Given the description of an element on the screen output the (x, y) to click on. 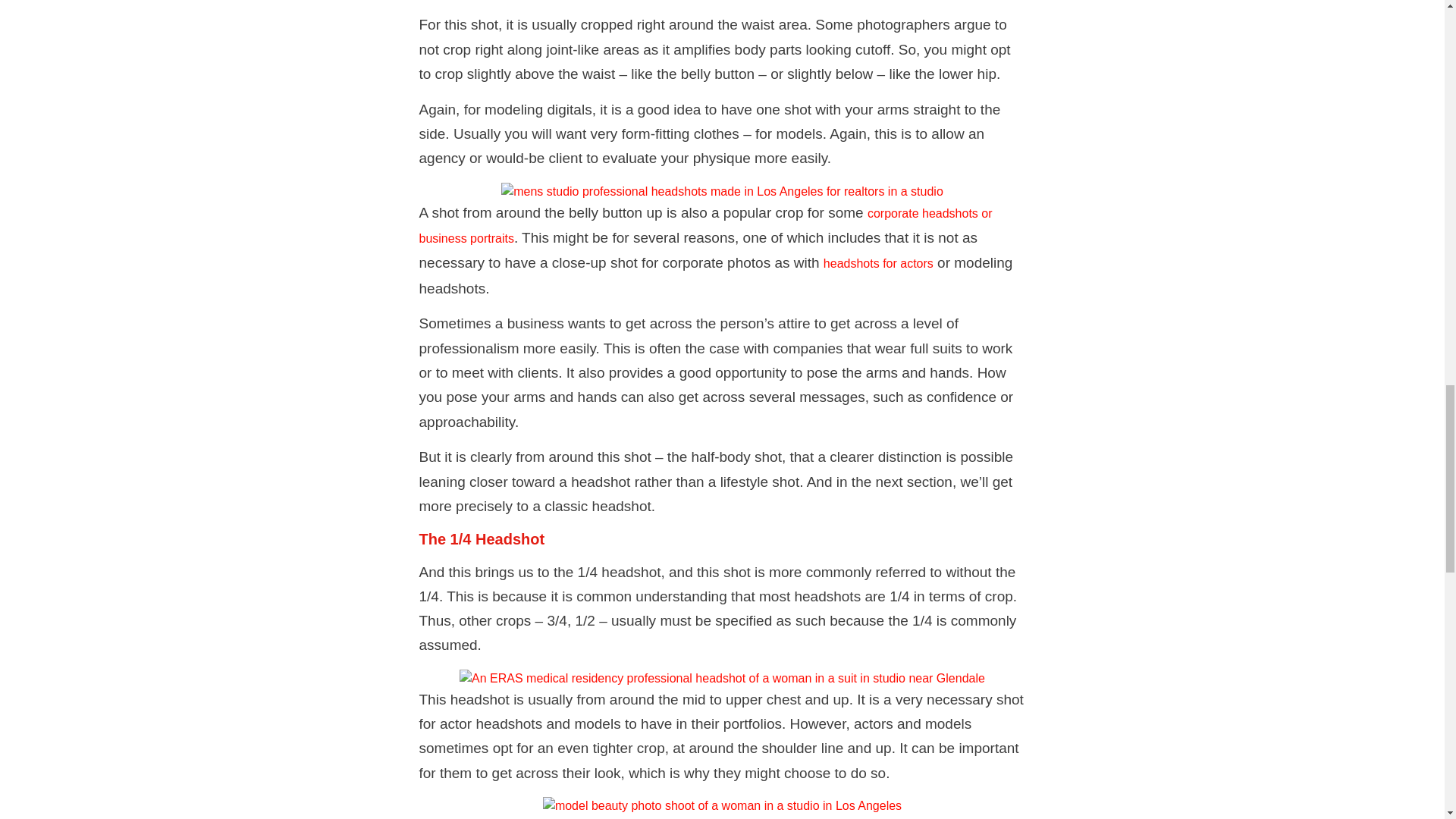
The Light Committee (722, 678)
The Light Committee (721, 191)
The Light Committee (722, 805)
